Given the description of an element on the screen output the (x, y) to click on. 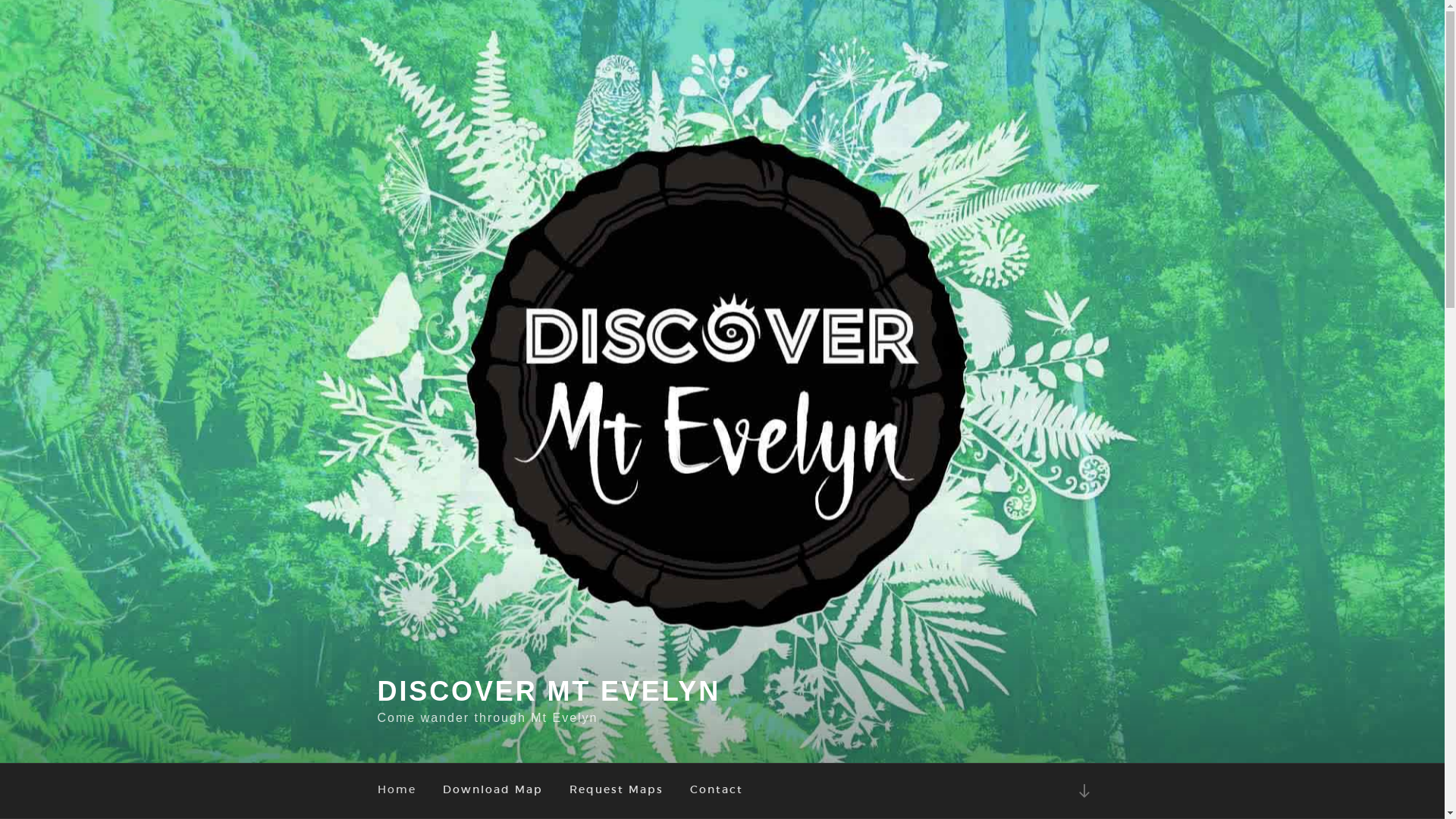
Contact Element type: text (716, 790)
Request Maps Element type: text (616, 790)
Scroll down to content Element type: text (1083, 790)
Home Element type: text (396, 790)
DISCOVER MT EVELYN Element type: text (549, 690)
Download Map Element type: text (492, 790)
